Given the description of an element on the screen output the (x, y) to click on. 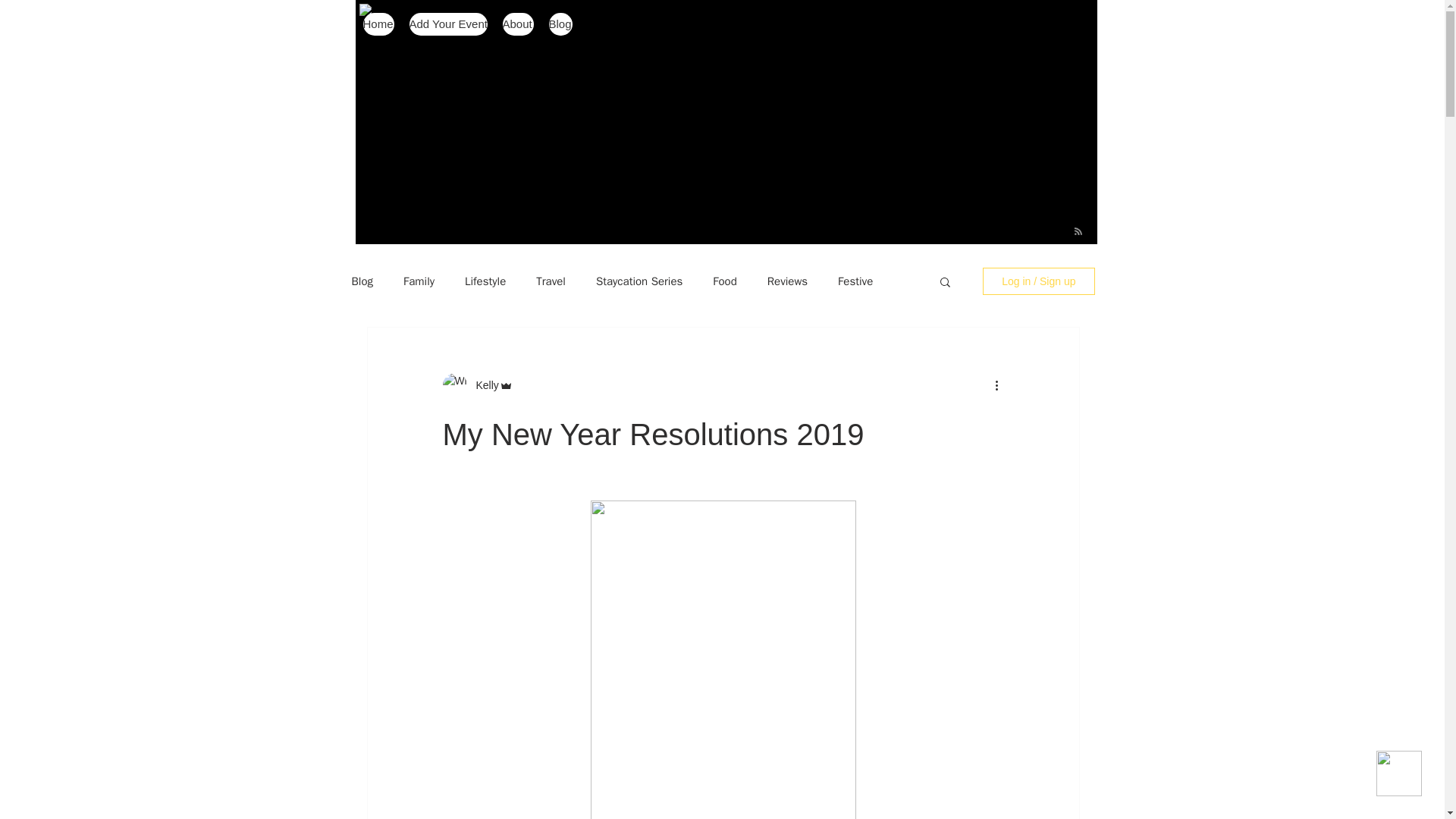
Home (377, 24)
Add Your Event (448, 24)
Lifestyle (484, 281)
Travel (550, 281)
Kelly  (483, 385)
Blog (560, 24)
Festive (855, 281)
Blog (362, 281)
Food (724, 281)
About (517, 24)
